Given the description of an element on the screen output the (x, y) to click on. 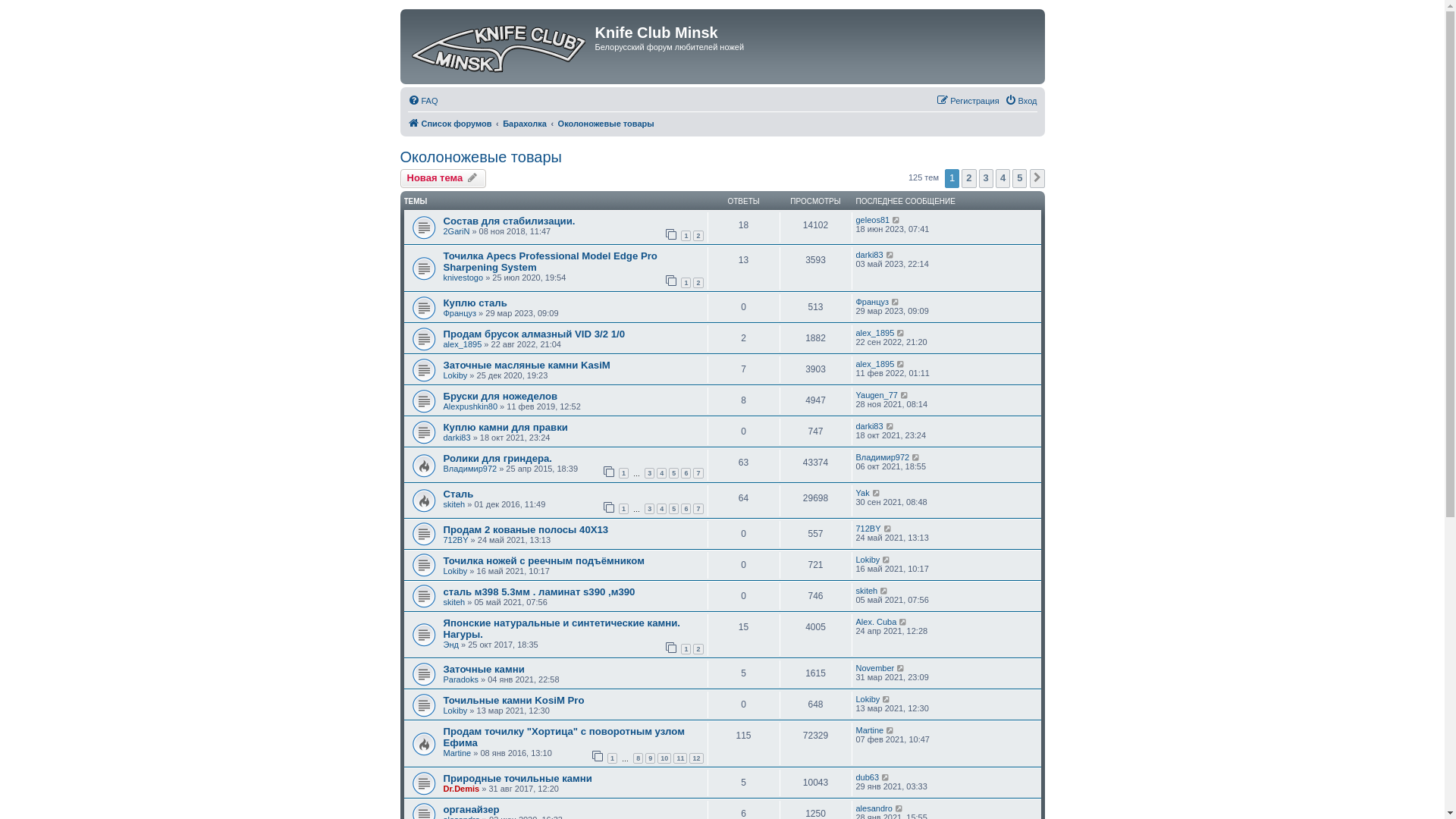
712BY Element type: text (867, 528)
skiteh Element type: text (866, 590)
Dr.Demis Element type: text (460, 788)
geleos81 Element type: text (872, 219)
7 Element type: text (697, 508)
darki83 Element type: text (868, 425)
7 Element type: text (697, 472)
Paradoks Element type: text (459, 679)
12 Element type: text (695, 758)
alex_1895 Element type: text (461, 343)
6 Element type: text (685, 472)
2 Element type: text (968, 178)
8 Element type: text (638, 758)
November Element type: text (874, 667)
2 Element type: text (697, 282)
5 Element type: text (1019, 178)
2 Element type: text (697, 235)
knivestogo Element type: text (462, 277)
Lokiby Element type: text (454, 374)
4 Element type: text (661, 508)
3 Element type: text (649, 472)
1 Element type: text (623, 508)
6 Element type: text (685, 508)
5 Element type: text (673, 472)
Alex. Cuba Element type: text (875, 621)
alesandro Element type: text (873, 807)
Yak Element type: text (862, 492)
11 Element type: text (680, 758)
alex_1895 Element type: text (874, 363)
4 Element type: text (1002, 178)
Martine Element type: text (456, 752)
9 Element type: text (650, 758)
Lokiby Element type: text (867, 698)
Martine Element type: text (869, 729)
Lokiby Element type: text (867, 559)
2GariN Element type: text (455, 230)
2 Element type: text (697, 648)
1 Element type: text (612, 758)
Alexpushkin80 Element type: text (469, 406)
1 Element type: text (685, 648)
1 Element type: text (685, 235)
Lokiby Element type: text (454, 570)
skiteh Element type: text (453, 503)
Yaugen_77 Element type: text (876, 394)
alex_1895 Element type: text (874, 332)
10 Element type: text (664, 758)
3 Element type: text (649, 508)
Lokiby Element type: text (454, 710)
skiteh Element type: text (453, 601)
1 Element type: text (623, 472)
dub63 Element type: text (866, 776)
FAQ Element type: text (422, 100)
5 Element type: text (673, 508)
712BY Element type: text (454, 539)
4 Element type: text (661, 472)
1 Element type: text (685, 282)
darki83 Element type: text (456, 437)
darki83 Element type: text (868, 254)
3 Element type: text (986, 178)
